Given the description of an element on the screen output the (x, y) to click on. 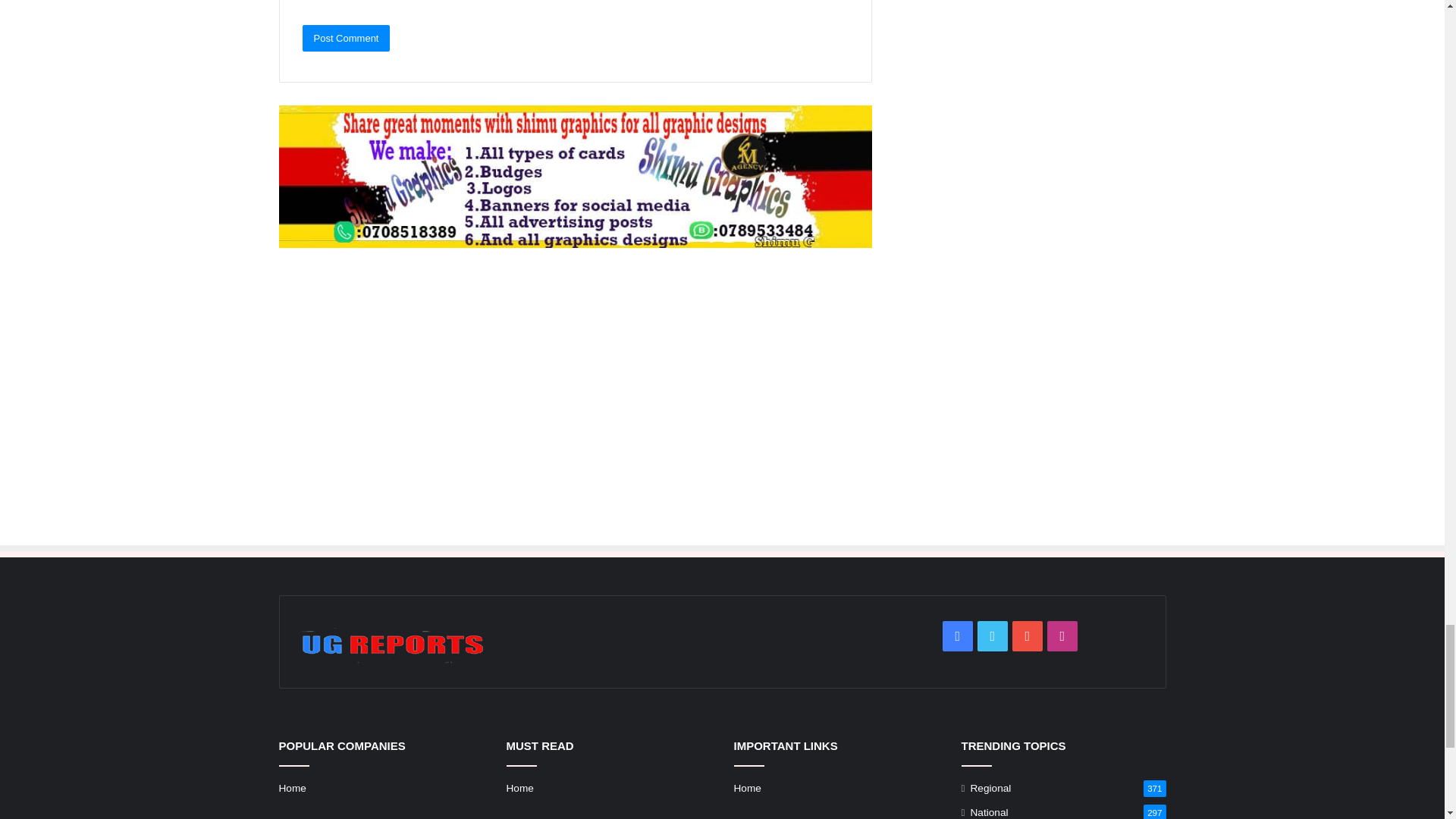
Post Comment (345, 38)
